Given the description of an element on the screen output the (x, y) to click on. 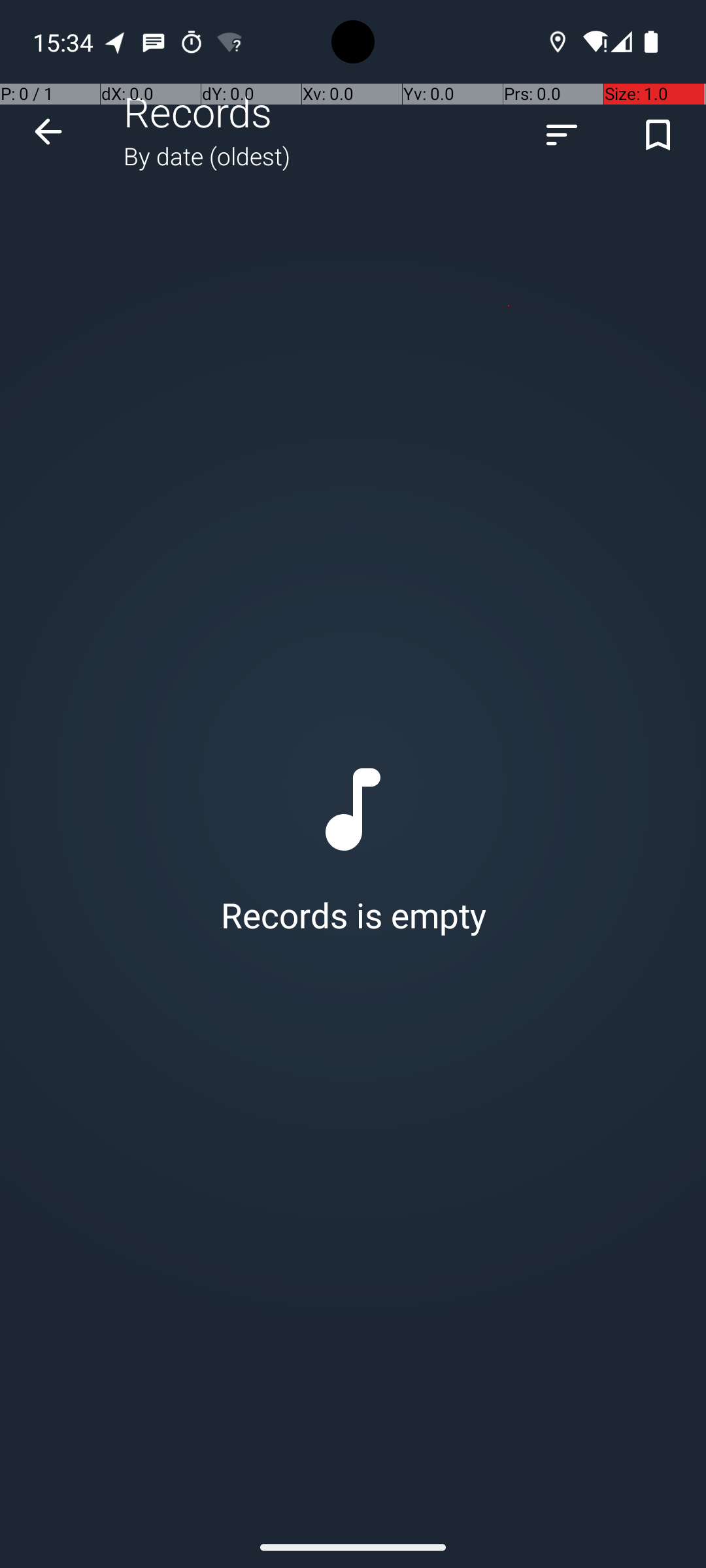
Records Element type: android.widget.TextView (198, 111)
By date (oldest) Element type: android.widget.TextView (206, 155)
Records is empty Element type: android.widget.TextView (352, 846)
